Given the description of an element on the screen output the (x, y) to click on. 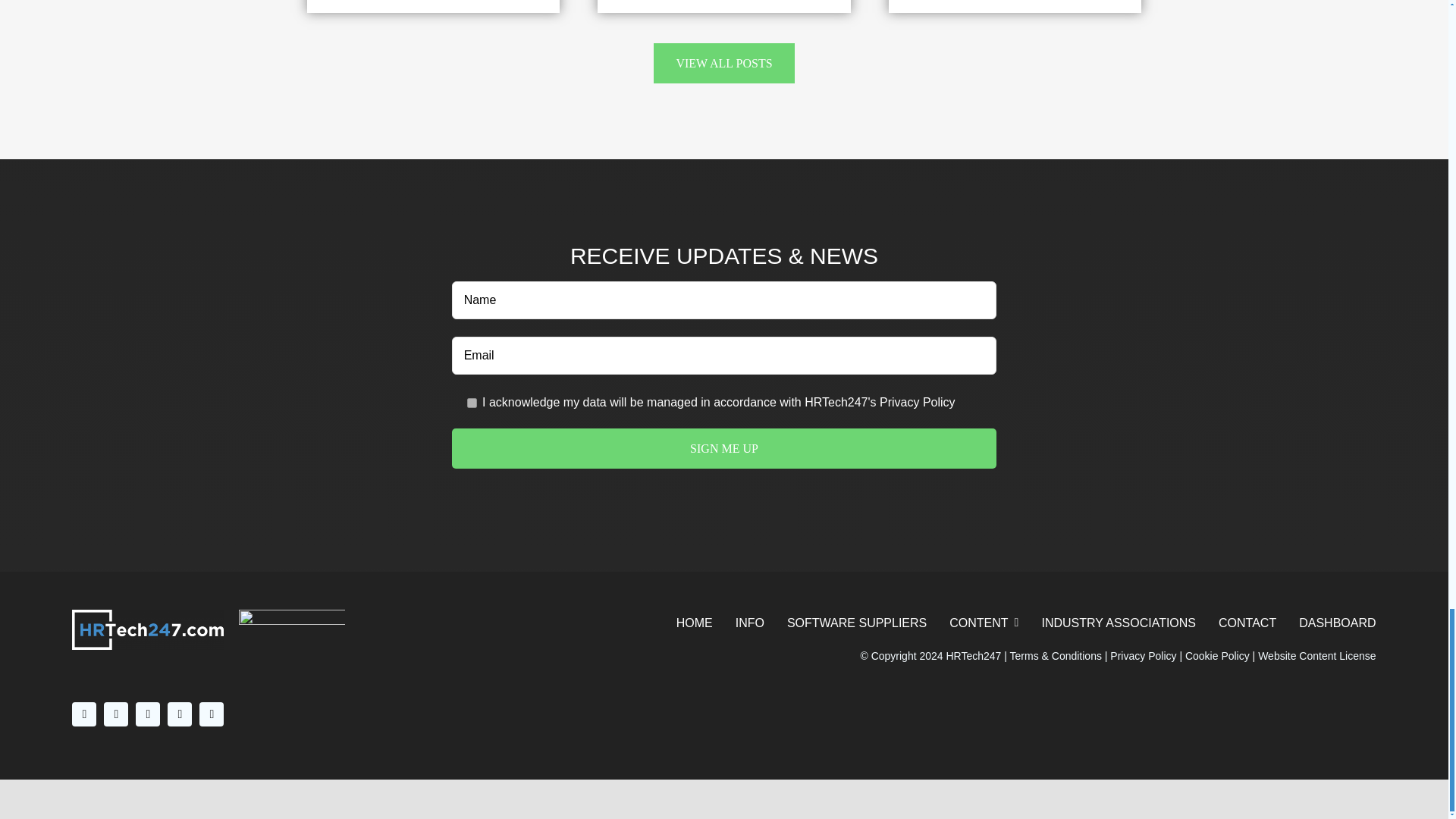
Sign me up (724, 448)
1 (472, 402)
